Given the description of an element on the screen output the (x, y) to click on. 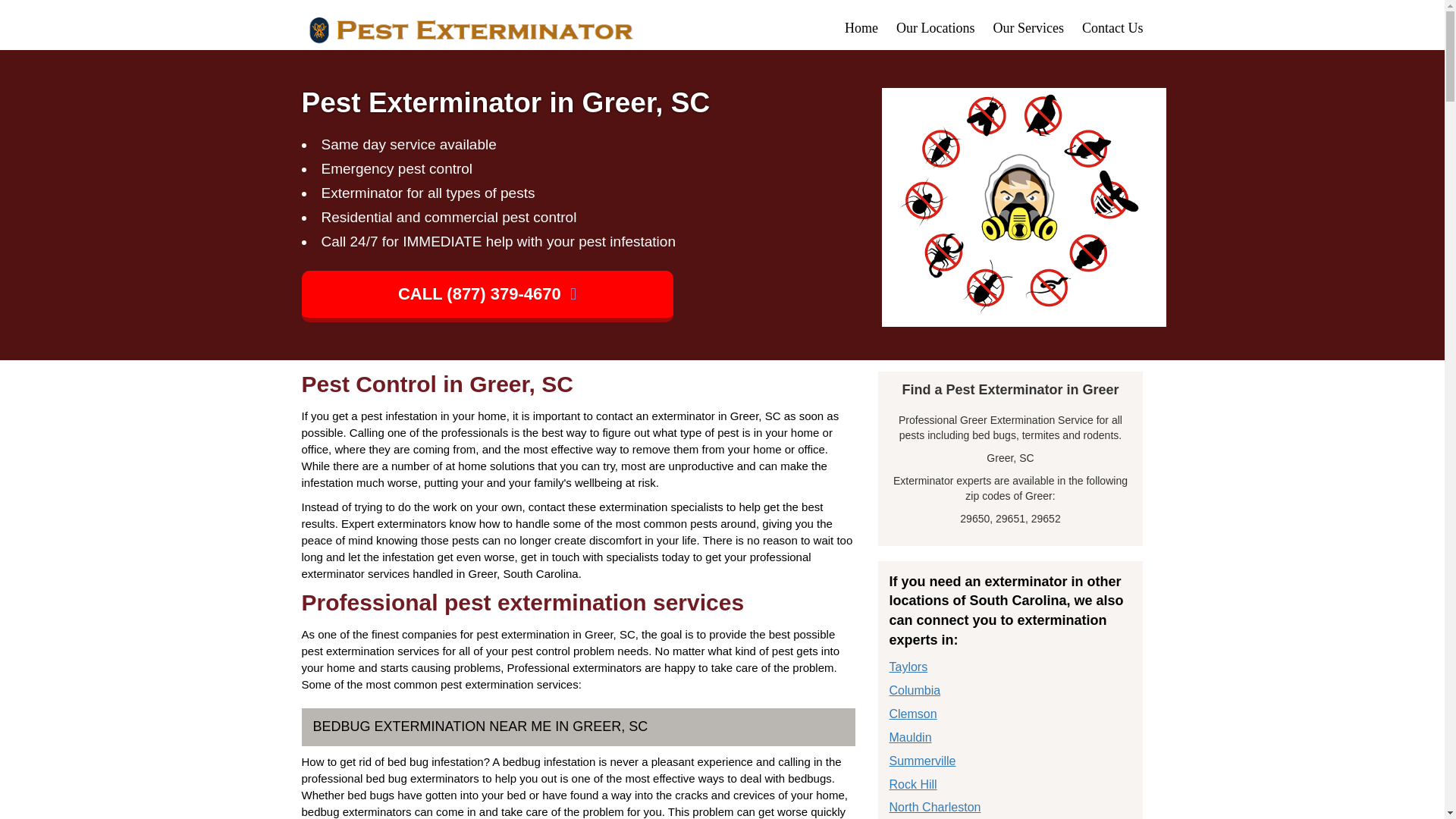
Mauldin (909, 737)
Clemson (912, 713)
Rock Hill (912, 784)
North Charleston (933, 807)
Contact Us (1111, 28)
Home (860, 28)
Columbia (914, 689)
Summerville (921, 760)
Our Services (1028, 28)
Taylors (907, 666)
Our Locations (935, 28)
